Given the description of an element on the screen output the (x, y) to click on. 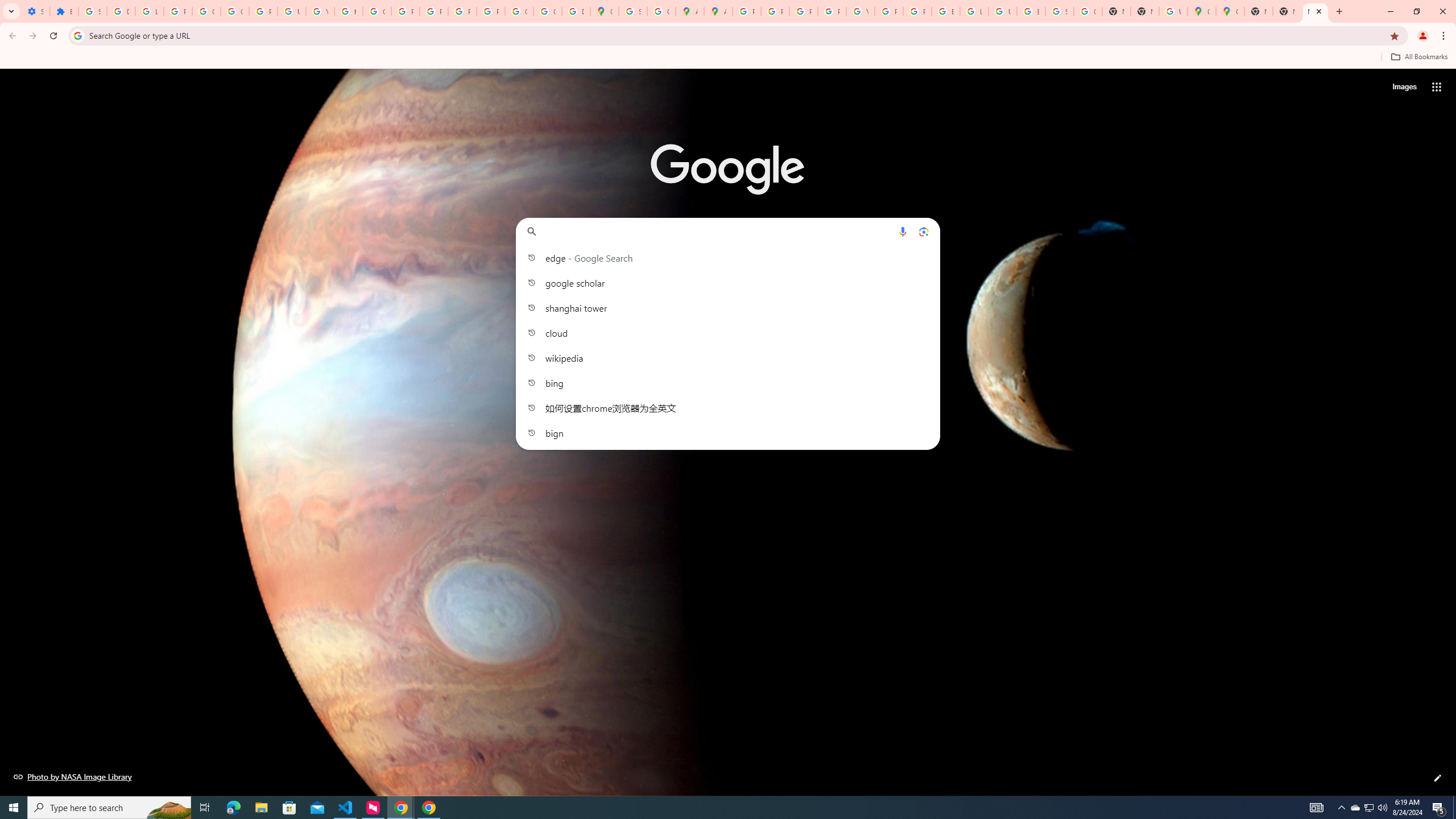
New Tab (1144, 11)
Settings - On startup (35, 11)
Sign in - Google Accounts (1058, 11)
Privacy Help Center - Policies Help (774, 11)
https://scholar.google.com/ (348, 11)
Google Maps (604, 11)
Google Account Help (206, 11)
